Given the description of an element on the screen output the (x, y) to click on. 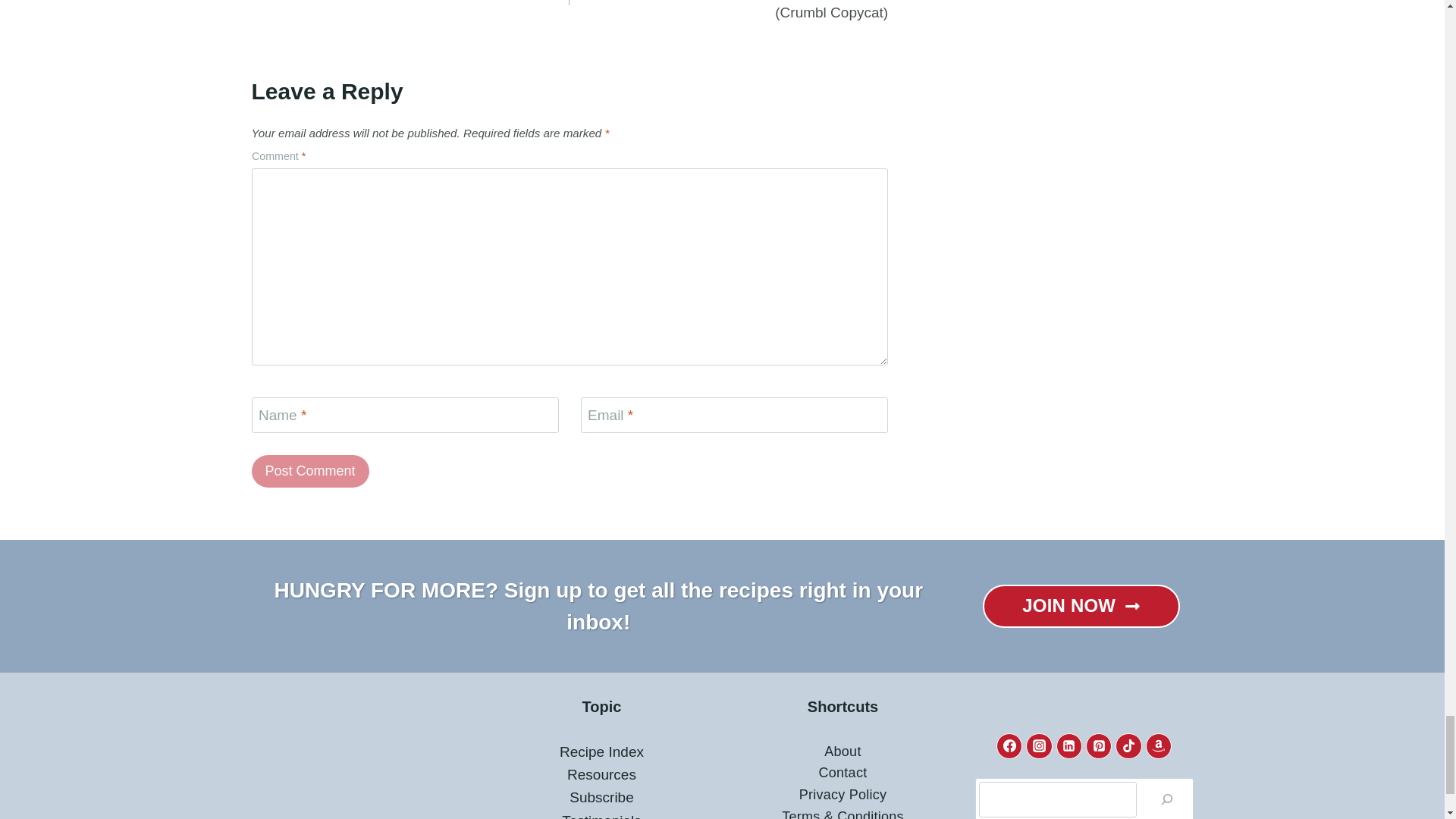
Post Comment (310, 471)
